Given the description of an element on the screen output the (x, y) to click on. 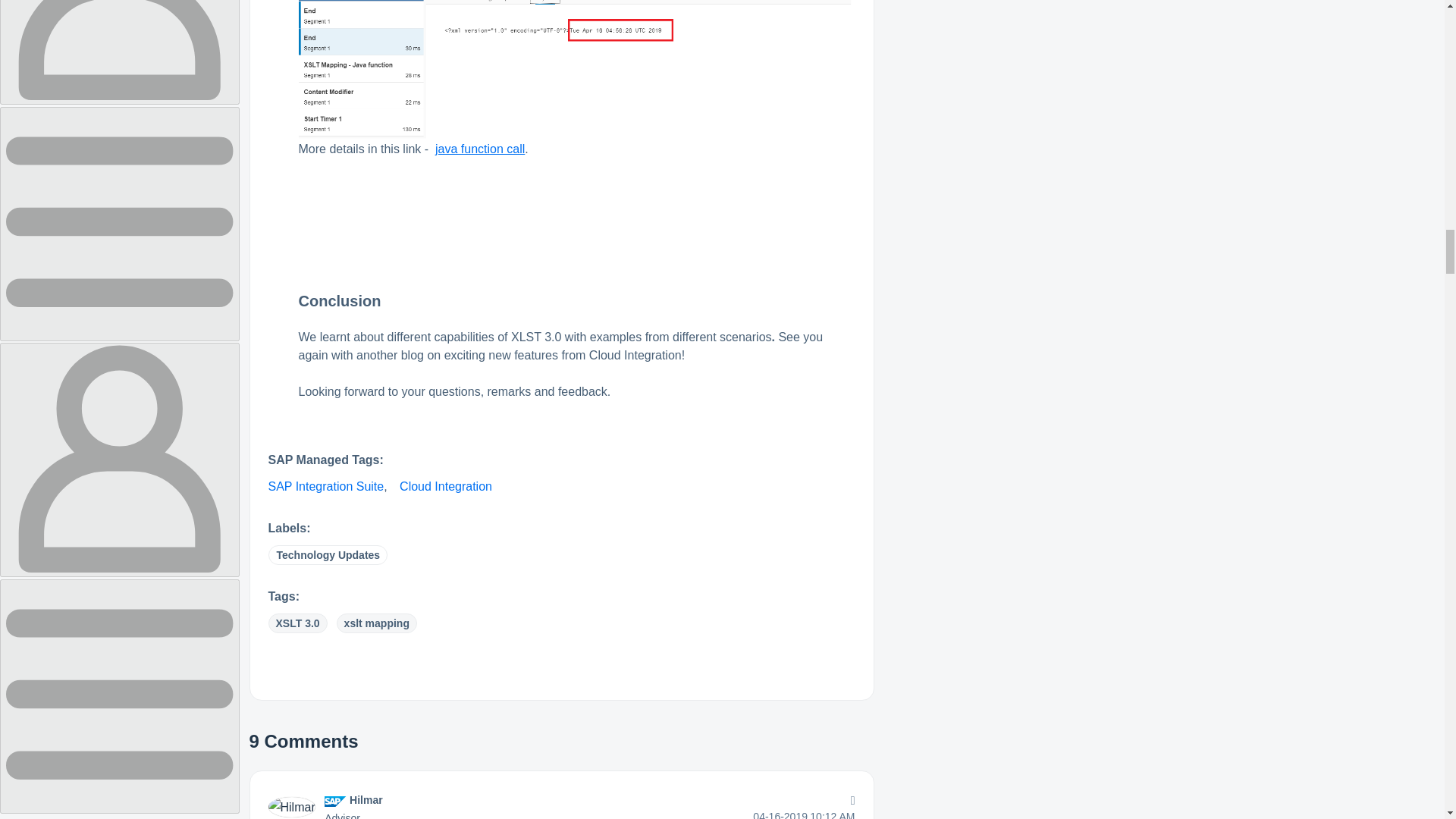
SAP Integration Suite (325, 486)
java function call (479, 148)
xslt mapping (376, 623)
Hilmar (365, 799)
Cloud Integration (445, 486)
XSLT 3.0 (297, 623)
Technology Updates (327, 555)
